Given the description of an element on the screen output the (x, y) to click on. 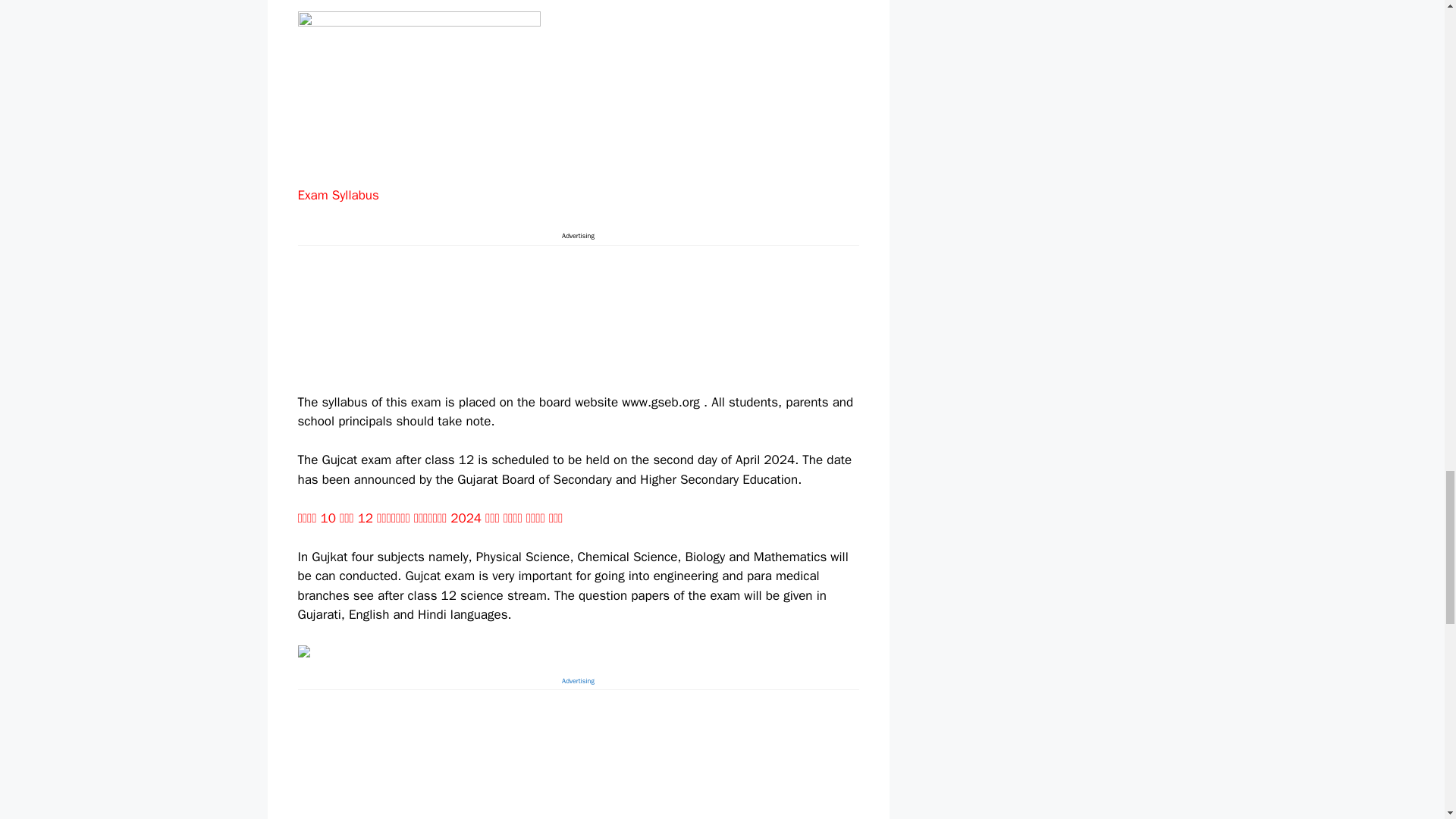
Advertising (578, 732)
Advertisement (578, 316)
